Given the description of an element on the screen output the (x, y) to click on. 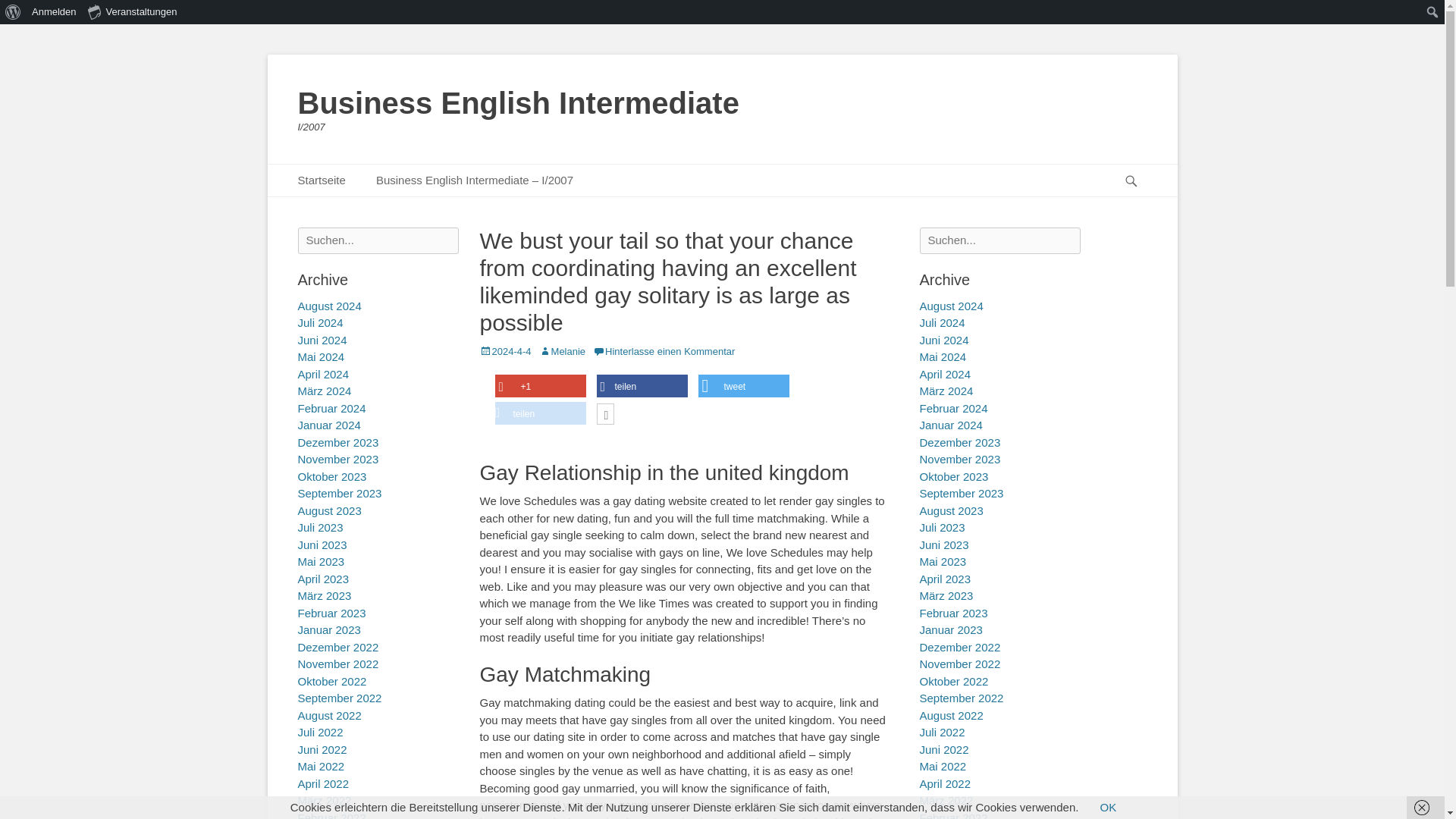
teilen (540, 413)
Suche nach: (377, 240)
teilen (641, 386)
Anmelden (54, 12)
Mai 2024 (942, 356)
Bei Reddit teilen (540, 413)
Juni 2024 (943, 339)
Startseite (320, 180)
Februar 2024 (952, 408)
Bei Twitter teilen (743, 386)
tweet (743, 386)
Suche (22, 9)
August 2024 (950, 305)
Suche nach: (999, 240)
Bei Facebook teilen (641, 386)
